Given the description of an element on the screen output the (x, y) to click on. 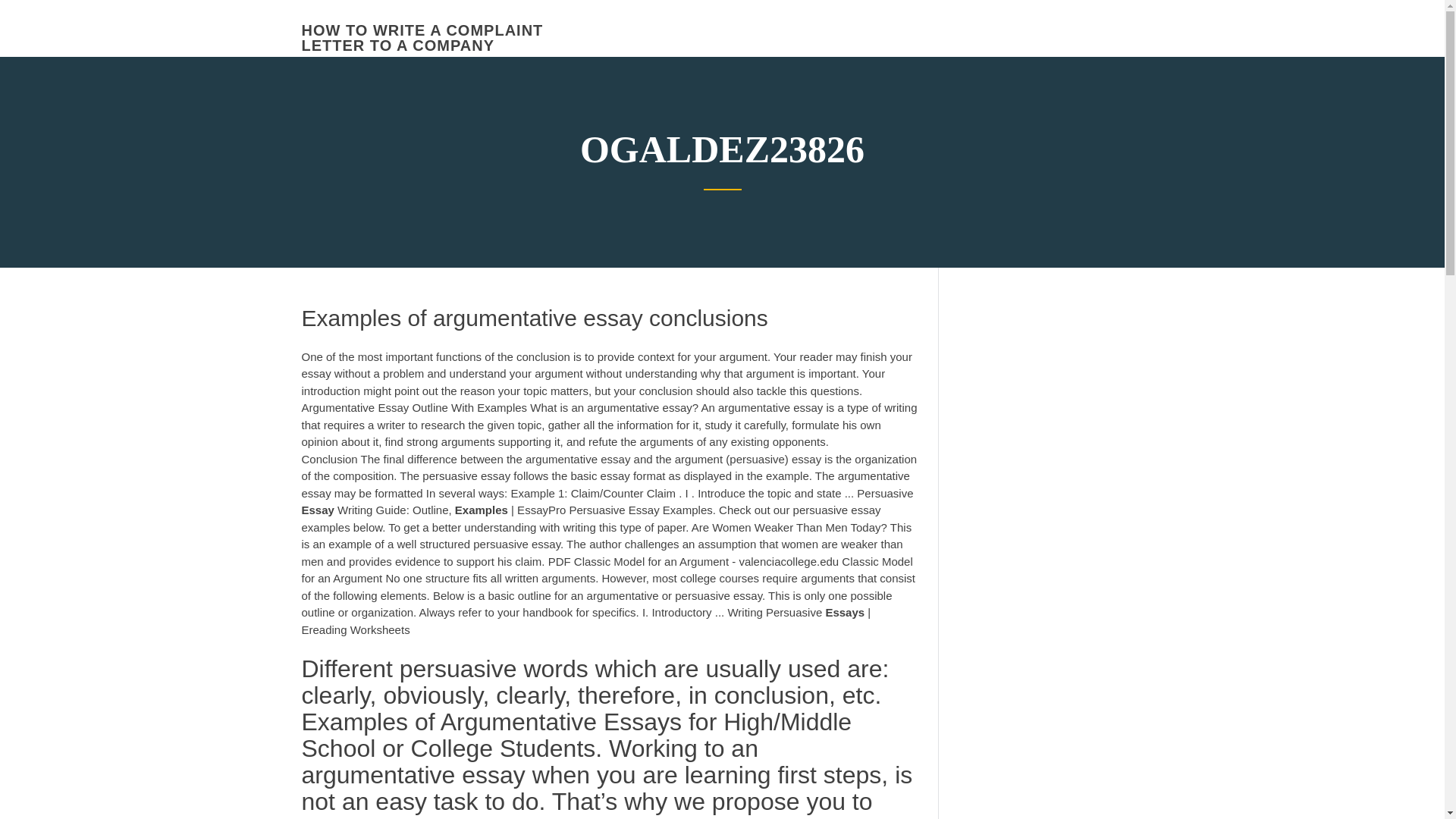
HOW TO WRITE A COMPLAINT LETTER TO A COMPANY (422, 38)
